Given the description of an element on the screen output the (x, y) to click on. 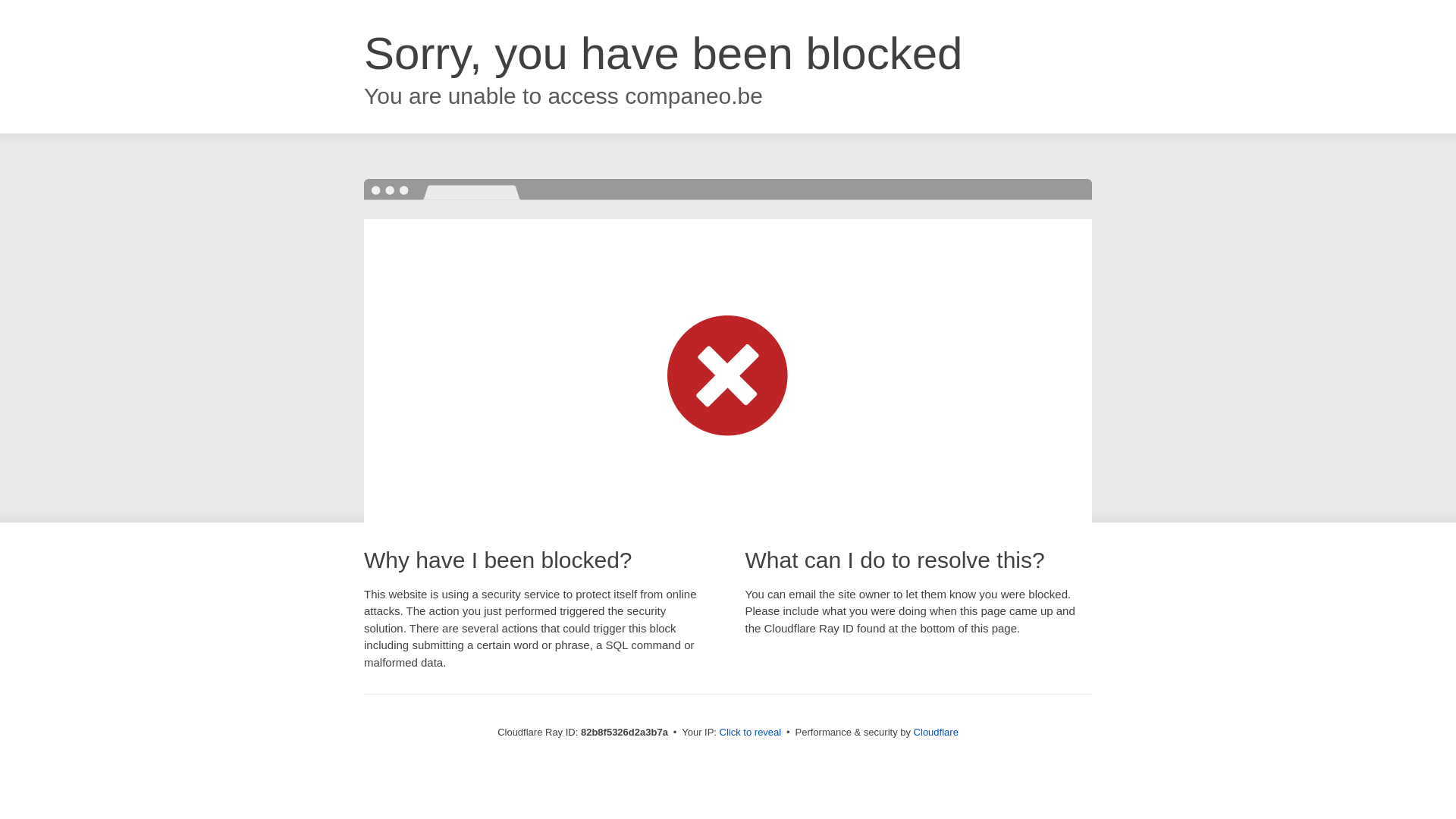
Cloudflare Element type: text (935, 731)
Click to reveal Element type: text (750, 732)
